Given the description of an element on the screen output the (x, y) to click on. 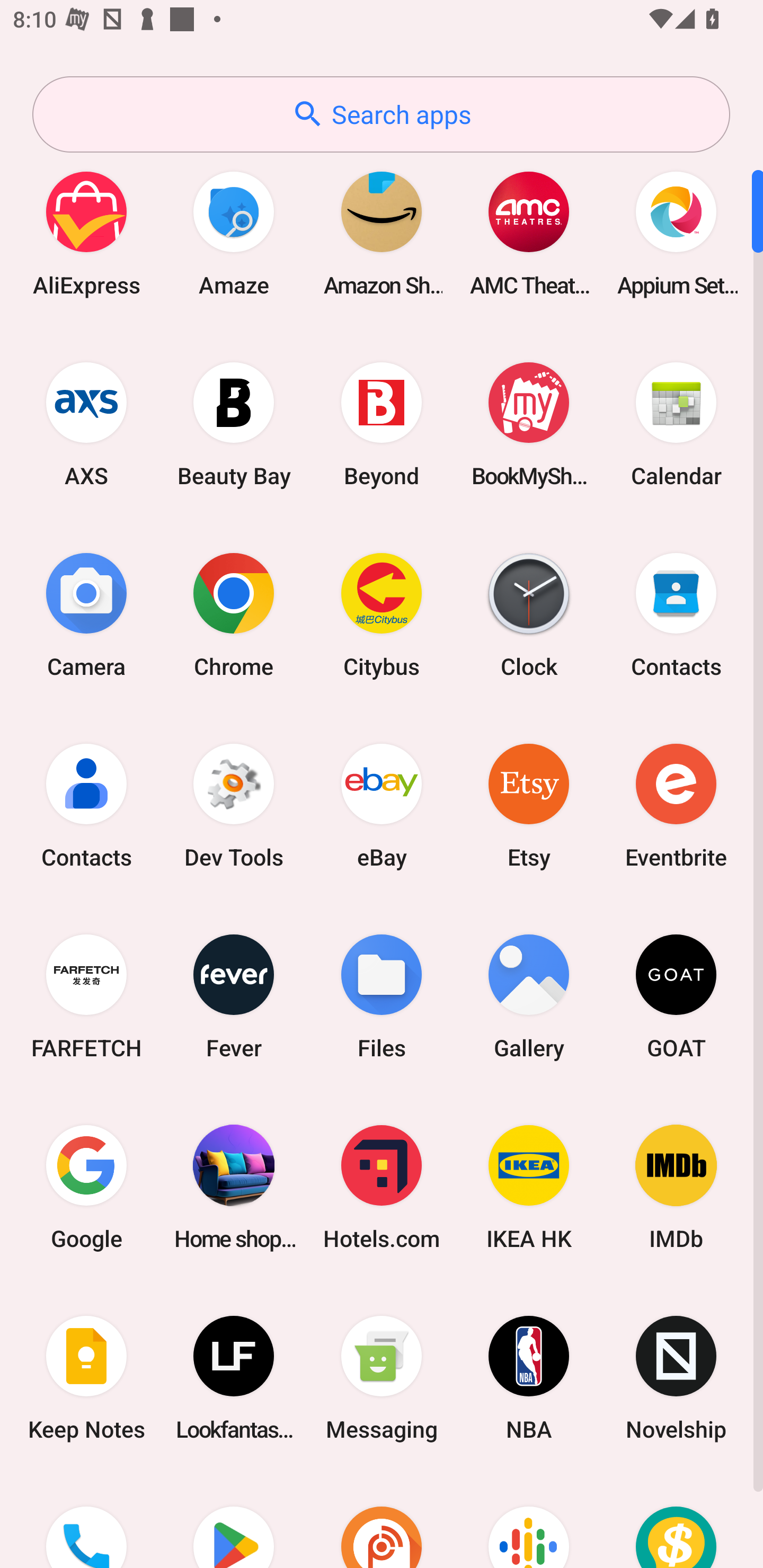
  Search apps (381, 114)
AliExpress (86, 233)
Amaze (233, 233)
Amazon Shopping (381, 233)
AMC Theatres (528, 233)
Appium Settings (676, 233)
AXS (86, 424)
Beauty Bay (233, 424)
Beyond (381, 424)
BookMyShow (528, 424)
Calendar (676, 424)
Camera (86, 614)
Chrome (233, 614)
Citybus (381, 614)
Clock (528, 614)
Contacts (676, 614)
Contacts (86, 805)
Dev Tools (233, 805)
eBay (381, 805)
Etsy (528, 805)
Eventbrite (676, 805)
FARFETCH (86, 996)
Fever (233, 996)
Files (381, 996)
Gallery (528, 996)
GOAT (676, 996)
Google (86, 1186)
Home shopping (233, 1186)
Hotels.com (381, 1186)
IKEA HK (528, 1186)
IMDb (676, 1186)
Keep Notes (86, 1377)
Lookfantastic (233, 1377)
Messaging (381, 1377)
NBA (528, 1377)
Novelship (676, 1377)
Phone (86, 1520)
Play Store (233, 1520)
Podcast Addict (381, 1520)
Podcasts (528, 1520)
Price (676, 1520)
